Given the description of an element on the screen output the (x, y) to click on. 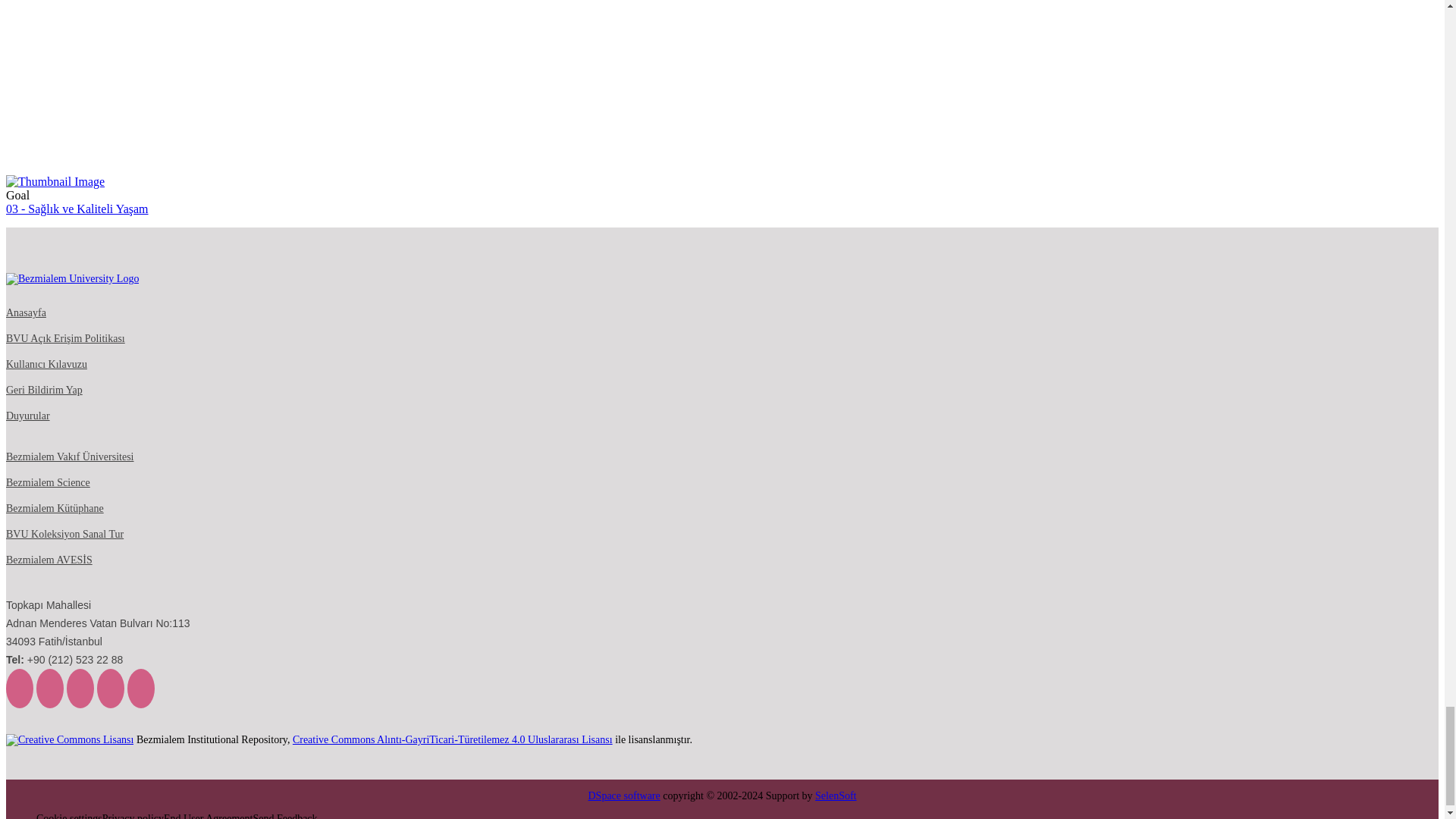
Duyurular (27, 416)
Geri Bildirim Yap (43, 389)
BVU Koleksiyon Sanal Tur (64, 534)
Anasayfa (25, 312)
Bezmialem Science (47, 482)
